Given the description of an element on the screen output the (x, y) to click on. 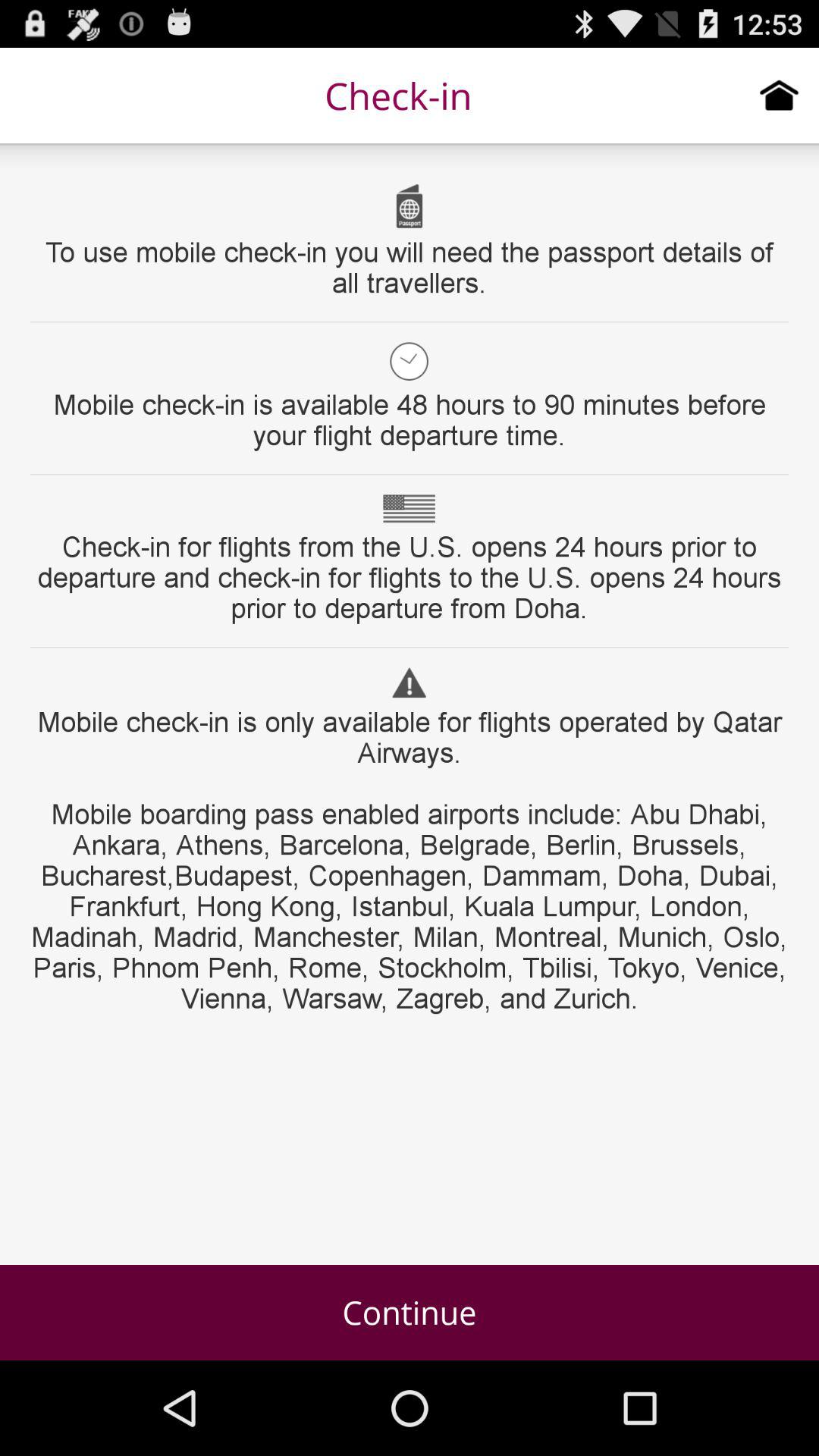
click continue icon (409, 1312)
